Given the description of an element on the screen output the (x, y) to click on. 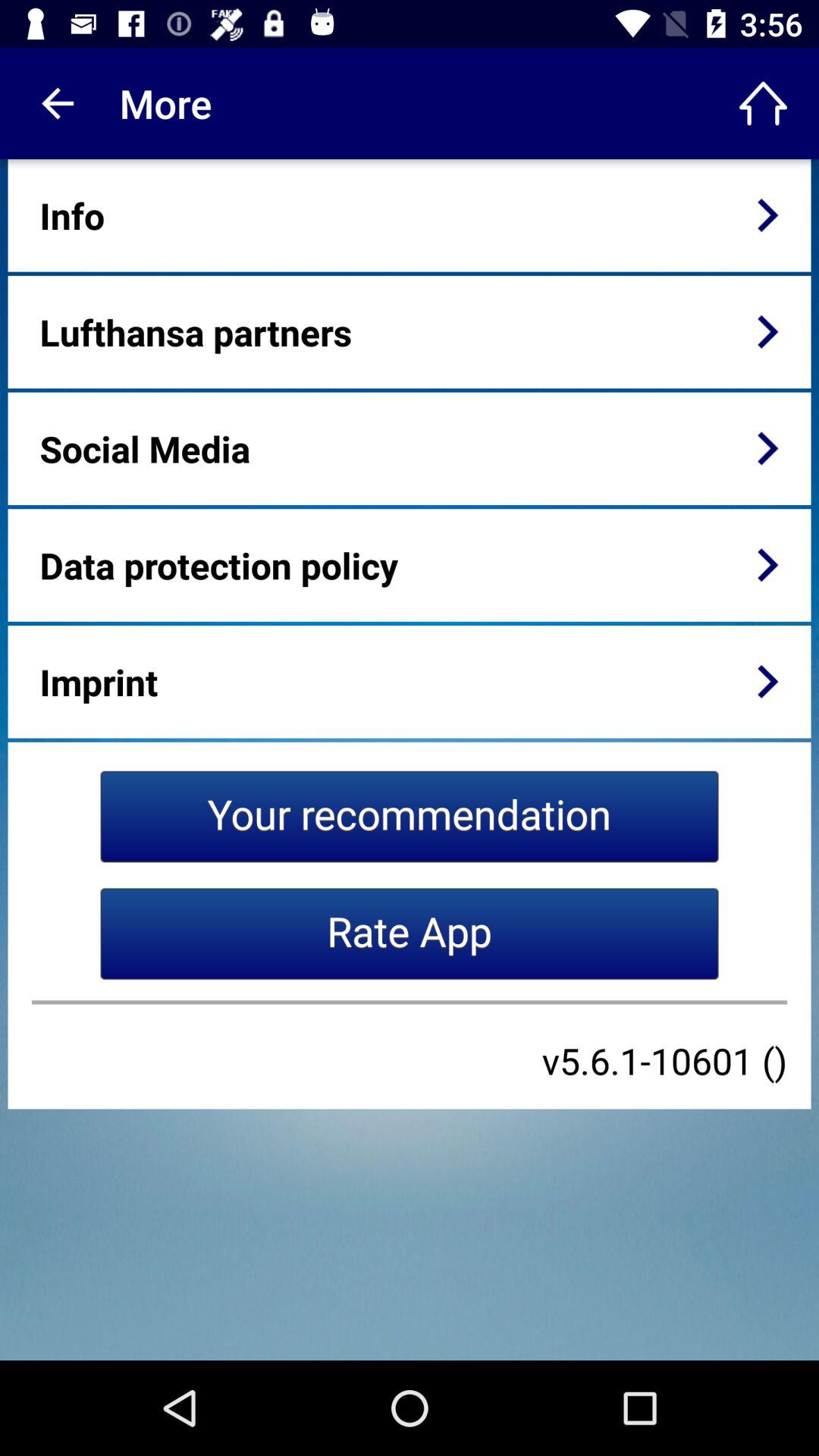
choose icon next to the imprint icon (768, 681)
